Given the description of an element on the screen output the (x, y) to click on. 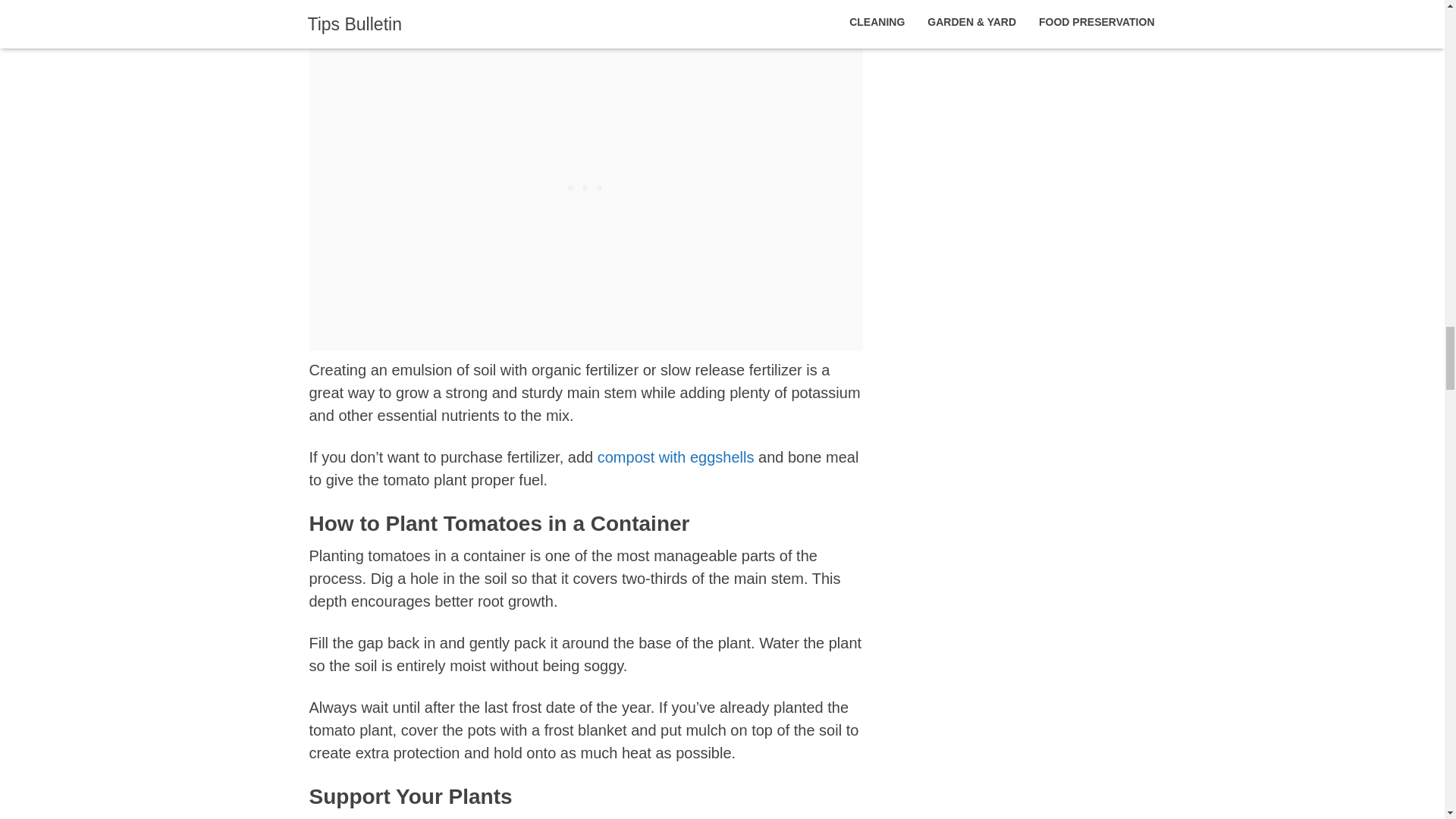
compost with eggshells (675, 457)
